Given the description of an element on the screen output the (x, y) to click on. 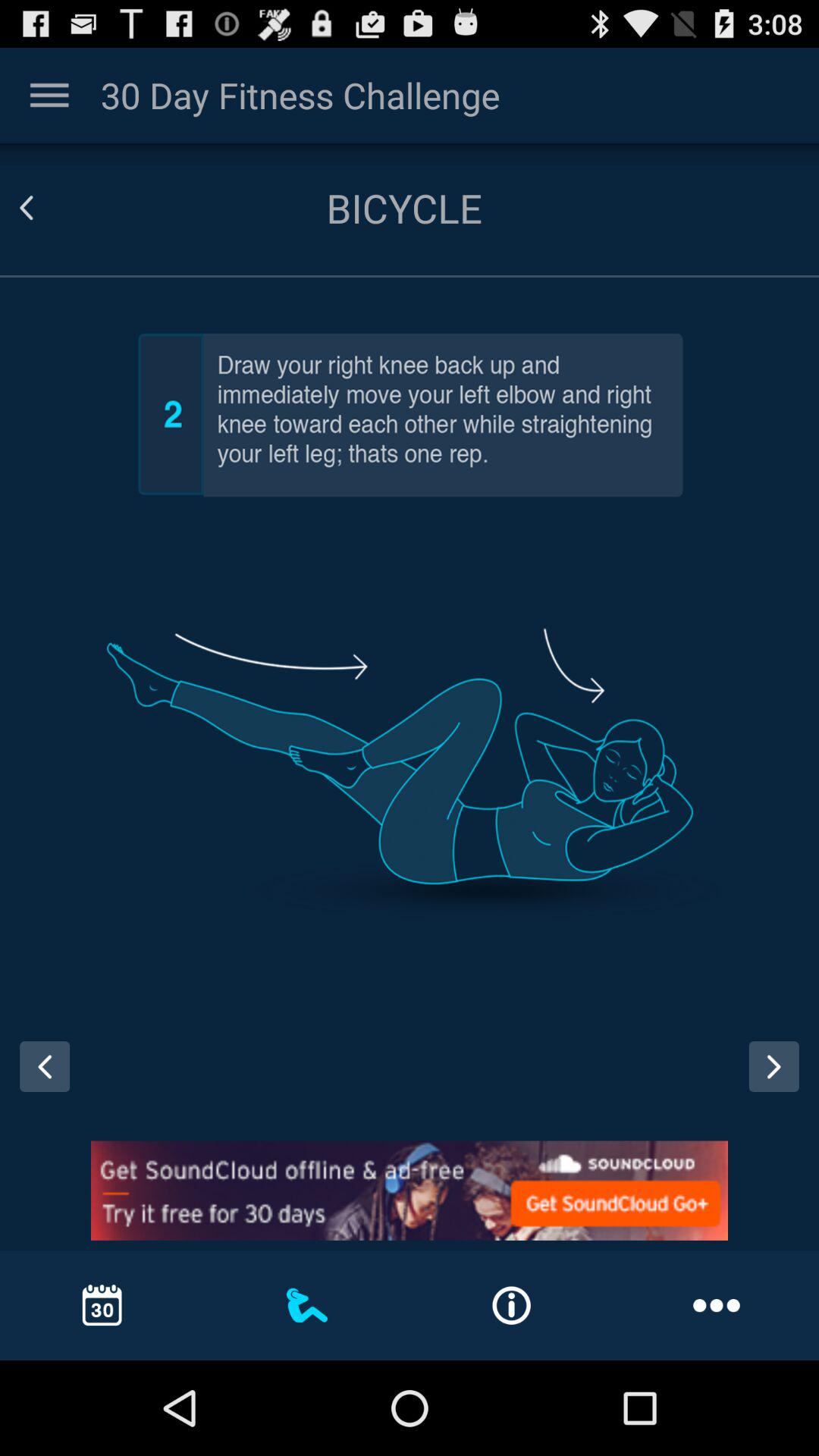
open advertisement (409, 1190)
